Given the description of an element on the screen output the (x, y) to click on. 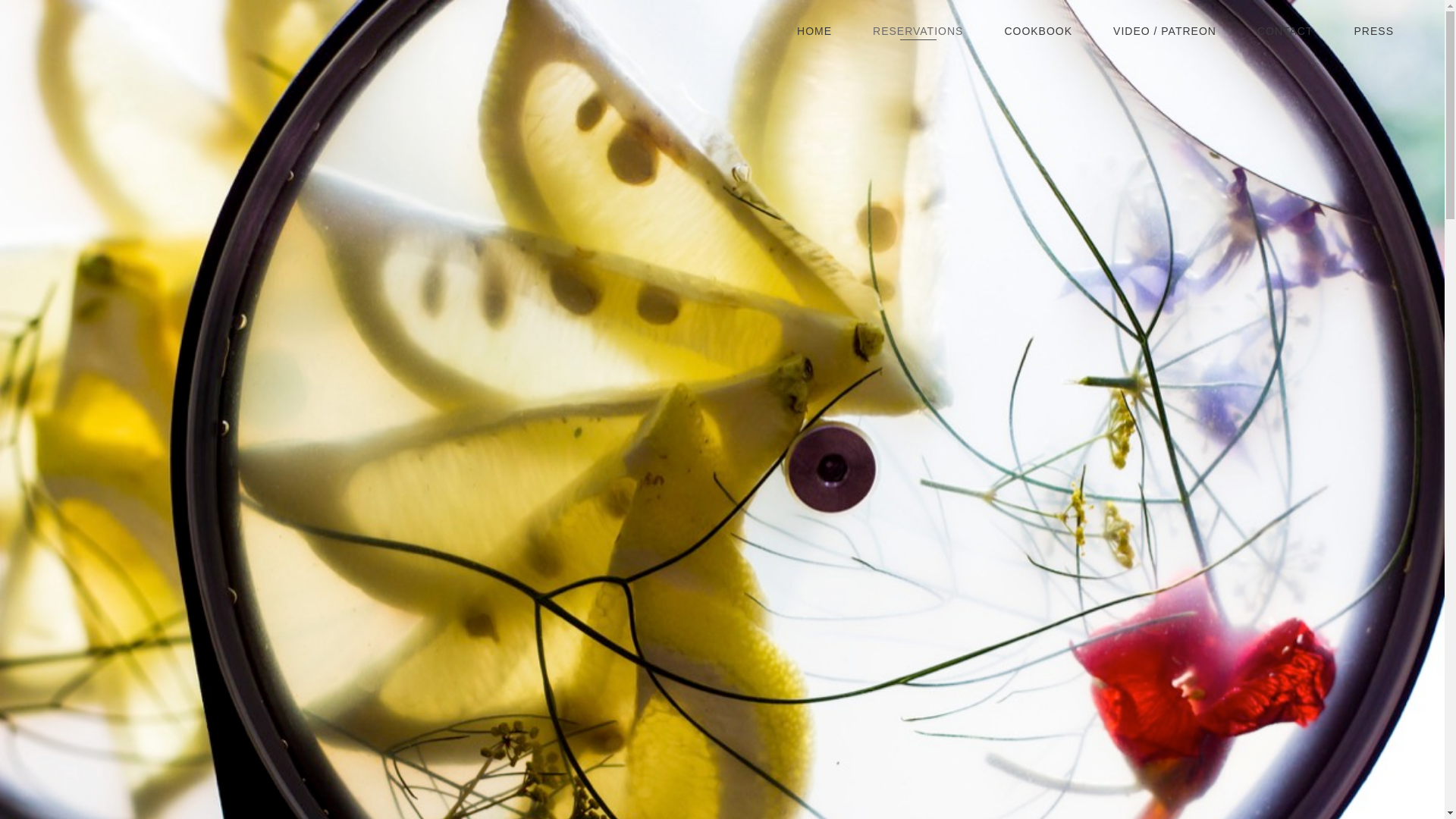
HOME (813, 42)
CONTACT (1285, 42)
PRESS (1373, 42)
COOKBOOK (1037, 42)
RESERVATIONS (917, 42)
